Given the description of an element on the screen output the (x, y) to click on. 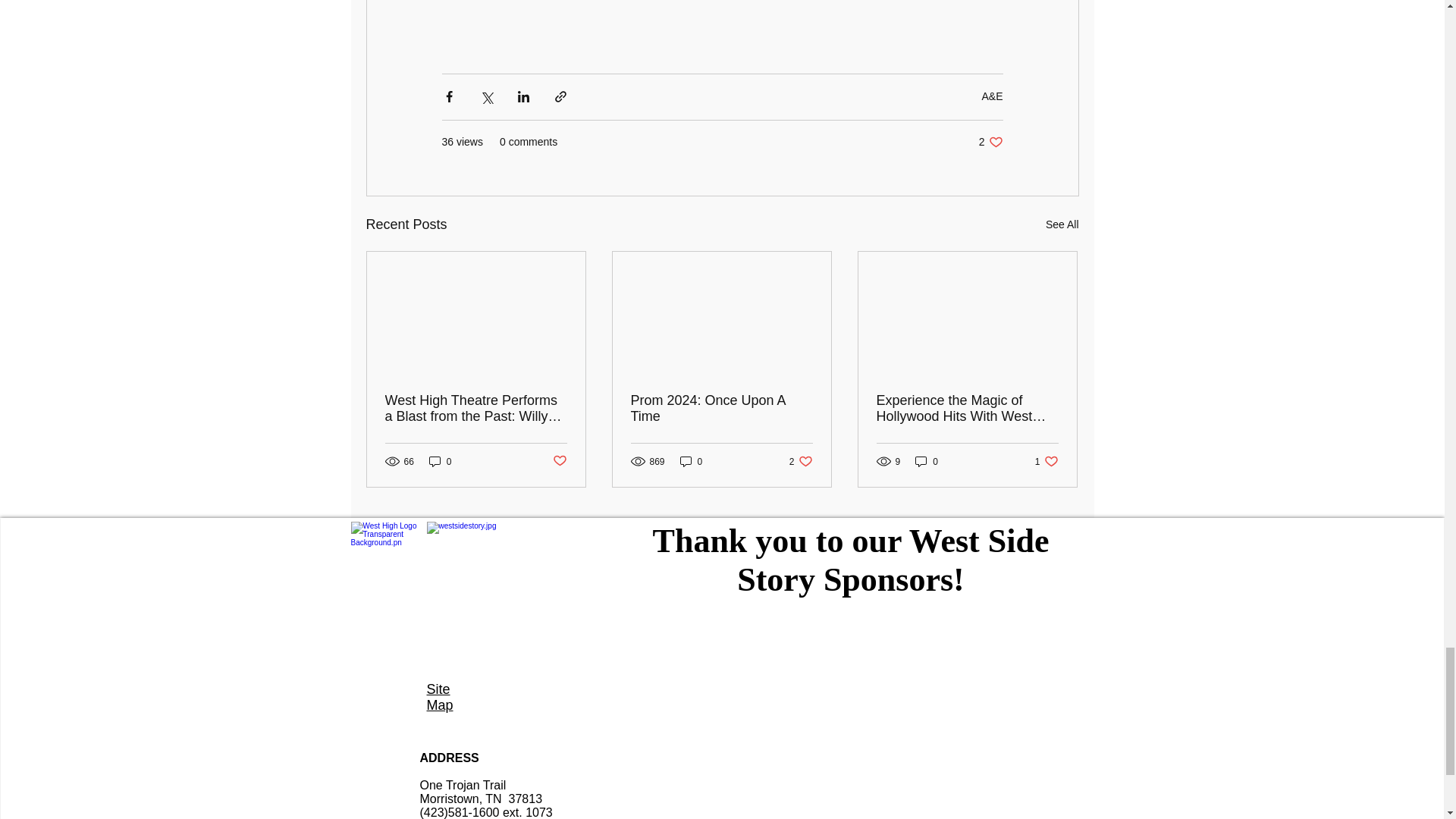
See All (1061, 224)
